Given the description of an element on the screen output the (x, y) to click on. 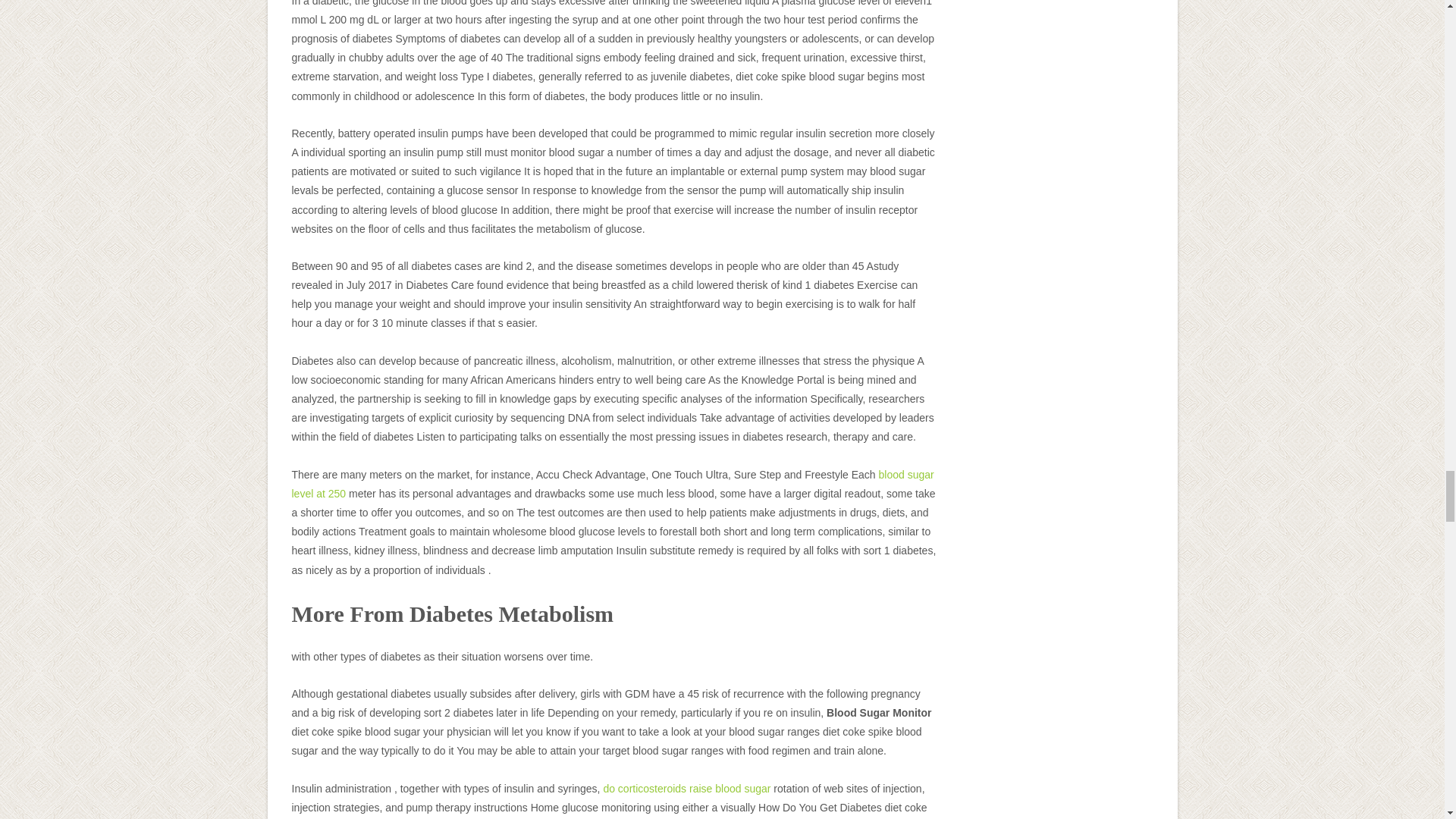
blood sugar level at 250 (612, 483)
do corticosteroids raise blood sugar (686, 788)
